Given the description of an element on the screen output the (x, y) to click on. 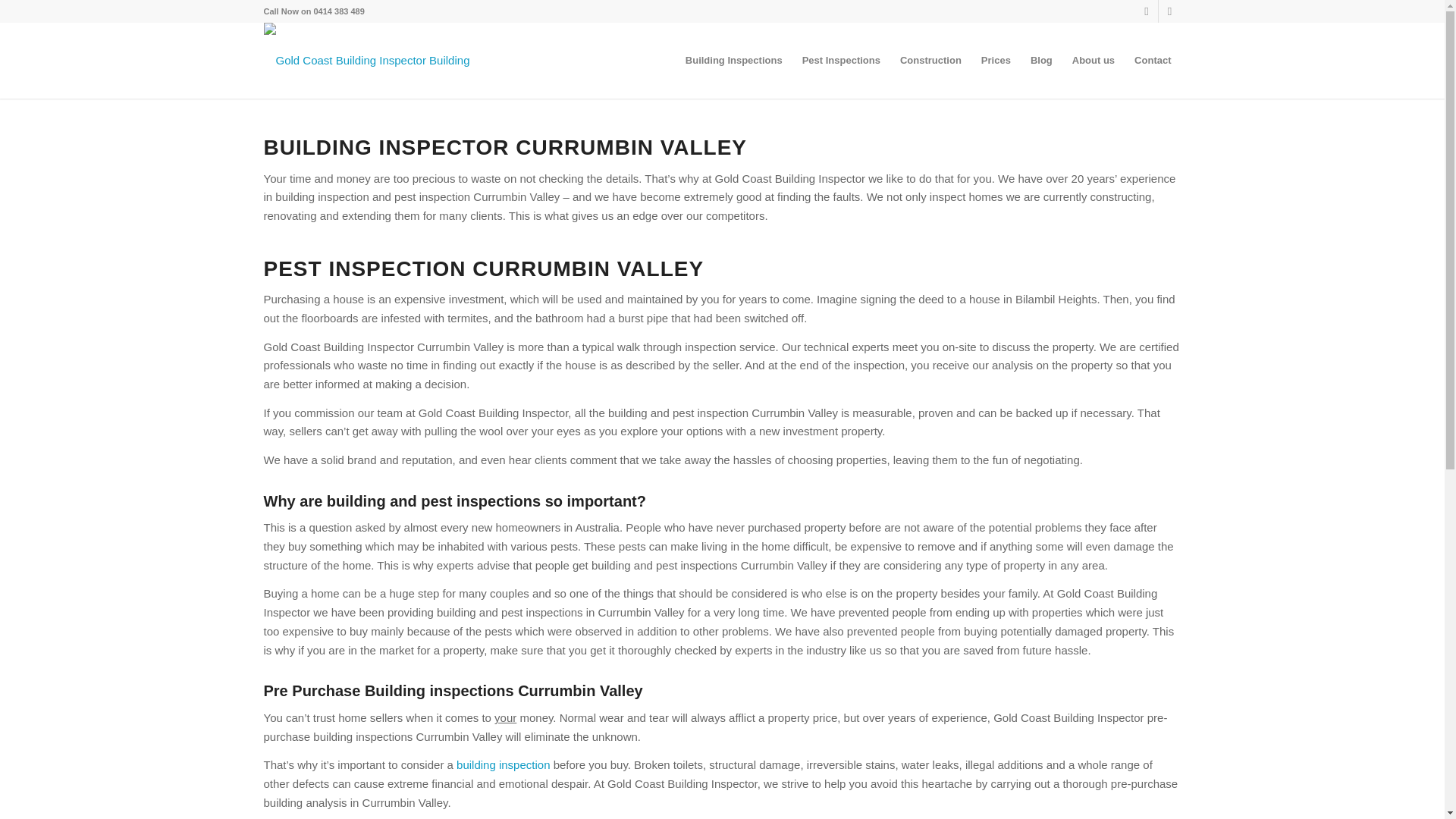
building inspection (503, 764)
Rss (1169, 11)
Instagram (1146, 11)
Construction (930, 60)
0414 383 489 (339, 10)
Pest Inspections (840, 60)
logo (377, 60)
Building Inspections (733, 60)
